Given the description of an element on the screen output the (x, y) to click on. 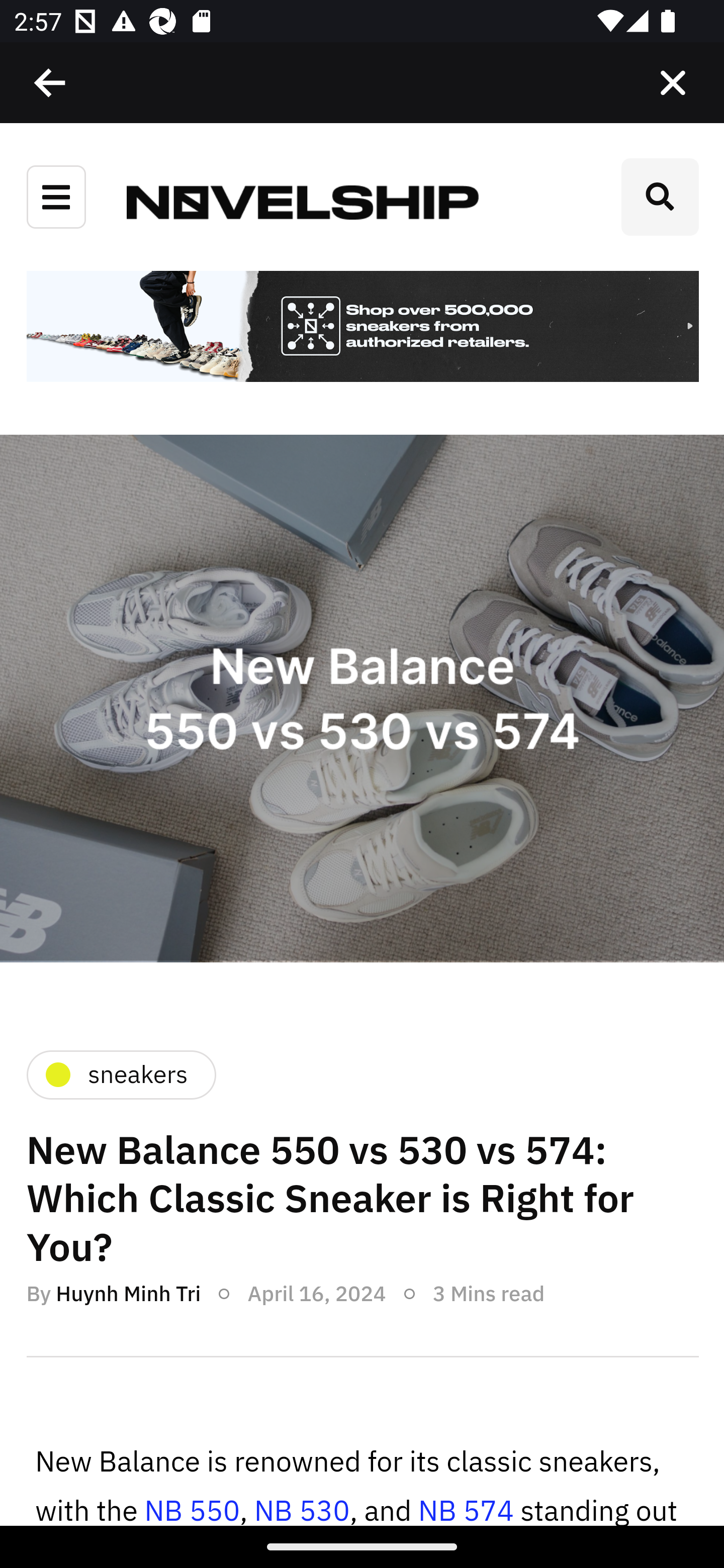
 (50, 83)
 (672, 83)
Search toggle (659, 196)
Novelship News (303, 201)
sneakers?utm_source=blog&utm_medium=banner (362, 327)
sneakers (120, 1074)
Huynh Minh Tri (127, 1293)
NB 550 (192, 1509)
NB 530 (301, 1509)
NB 574 (465, 1509)
